Given the description of an element on the screen output the (x, y) to click on. 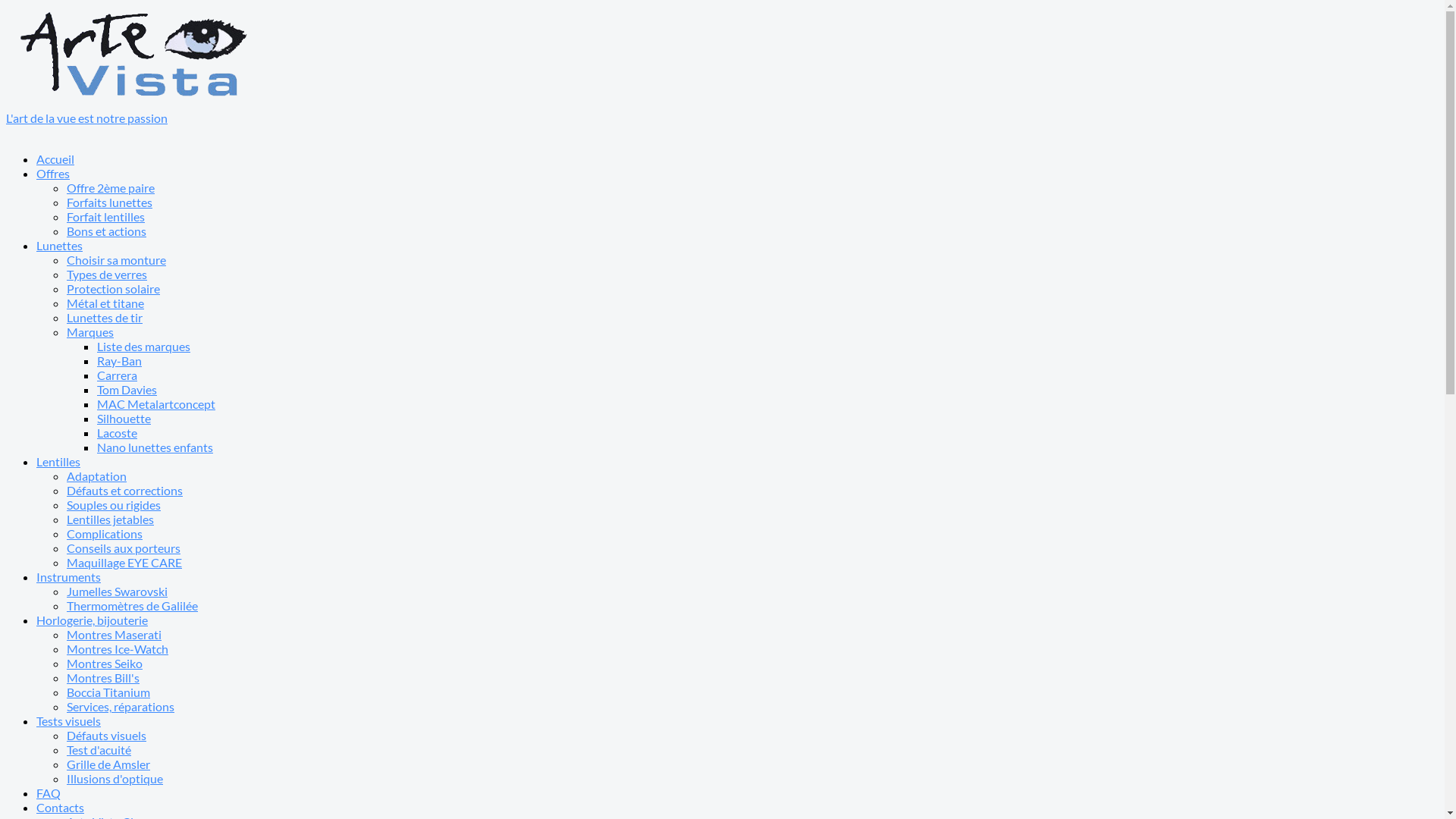
Types de verres Element type: text (106, 273)
Forfaits lunettes Element type: text (109, 201)
Tests visuels Element type: text (68, 720)
Instruments Element type: text (68, 576)
Accueil Element type: text (55, 158)
Lunettes Element type: text (59, 245)
Montres Ice-Watch Element type: text (117, 648)
Protection solaire Element type: text (113, 288)
MAC Metalartconcept Element type: text (156, 403)
Carrera Element type: text (117, 374)
L'art de la vue est notre passion Element type: text (722, 110)
Contacts Element type: text (60, 807)
Grille de Amsler Element type: text (108, 763)
Bons et actions Element type: text (106, 230)
Lentilles jetables Element type: text (109, 518)
Lacoste Element type: text (117, 432)
Boccia Titanium Element type: text (108, 691)
Liste des marques Element type: text (143, 345)
Conseils aux porteurs Element type: text (123, 547)
Illusions d'optique Element type: text (114, 778)
Forfait lentilles Element type: text (105, 216)
Montres Seiko Element type: text (104, 662)
Complications Element type: text (104, 533)
Tom Davies Element type: text (126, 389)
Jumelles Swarovski Element type: text (116, 590)
Montres Bill's Element type: text (102, 677)
Lentilles Element type: text (58, 461)
Ray-Ban Element type: text (119, 360)
Horlogerie, bijouterie Element type: text (91, 619)
Silhouette Element type: text (123, 418)
Marques Element type: text (89, 331)
Choisir sa monture Element type: text (116, 259)
Nano lunettes enfants Element type: text (155, 446)
FAQ Element type: text (48, 792)
Adaptation Element type: text (96, 475)
Maquillage EYE CARE Element type: text (124, 562)
Montres Maserati Element type: text (113, 634)
Offres Element type: text (52, 173)
Lunettes de tir Element type: text (104, 317)
Souples ou rigides Element type: text (113, 504)
